Given the description of an element on the screen output the (x, y) to click on. 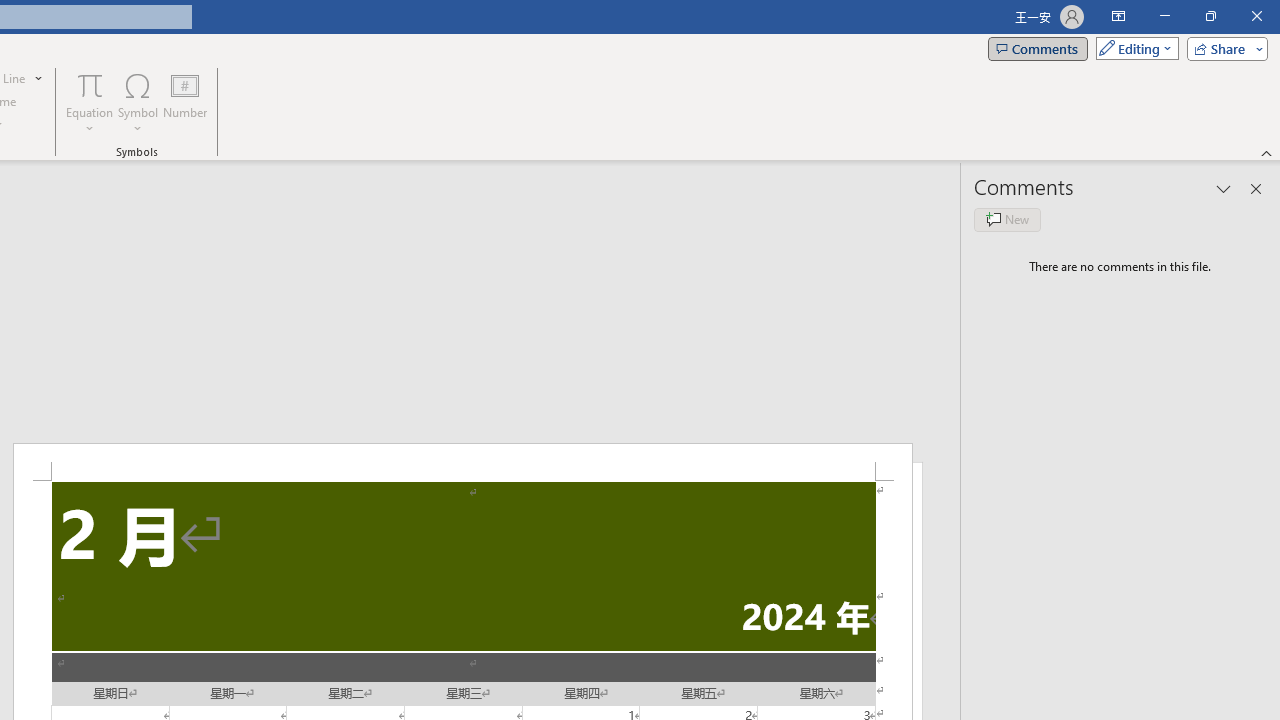
Mode (1133, 47)
Collapse the Ribbon (1267, 152)
Ribbon Display Options (1118, 16)
Symbol (138, 102)
